Given the description of an element on the screen output the (x, y) to click on. 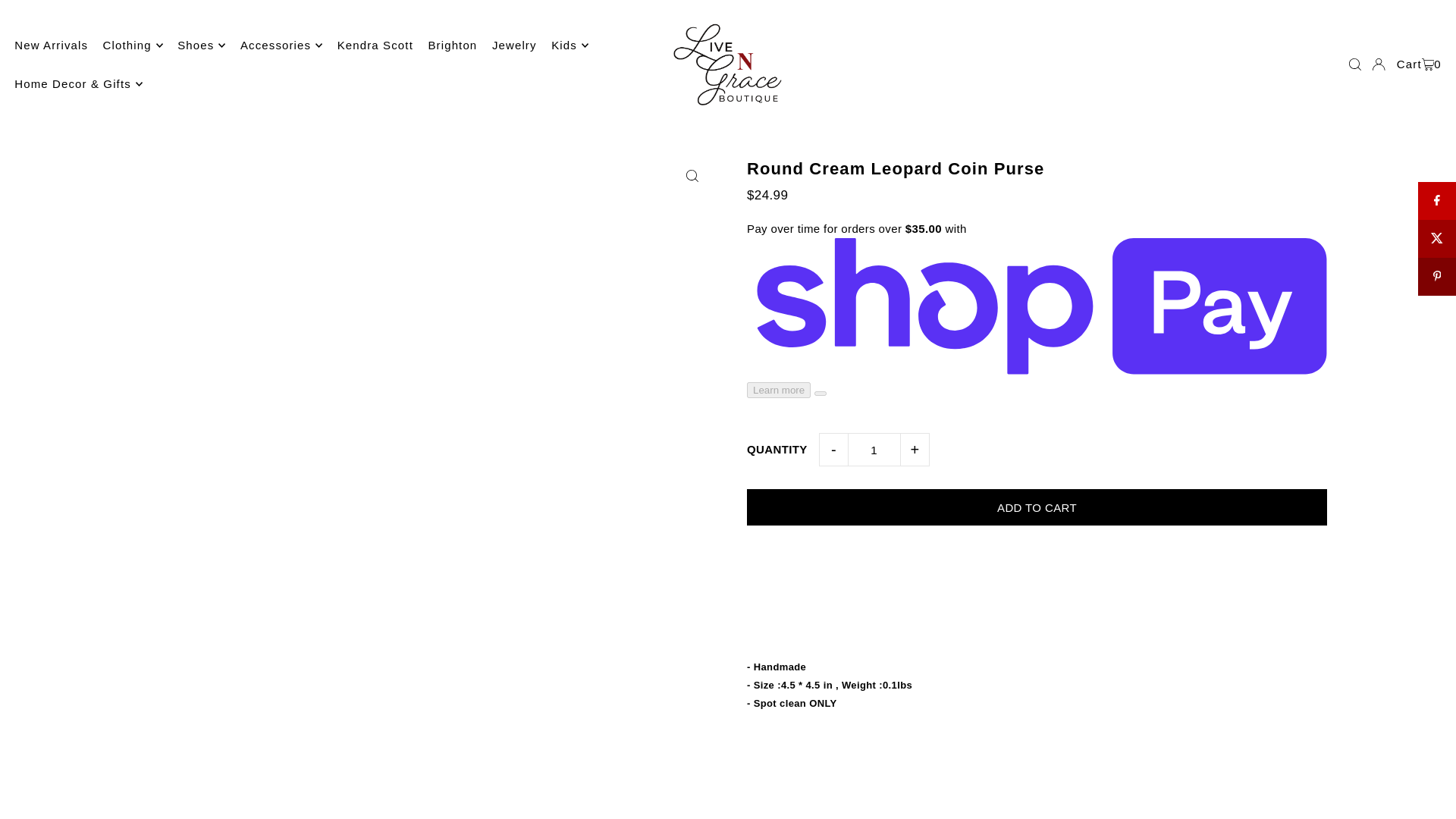
Add to Cart (1036, 506)
Click to zoom (692, 175)
1 (874, 449)
